Given the description of an element on the screen output the (x, y) to click on. 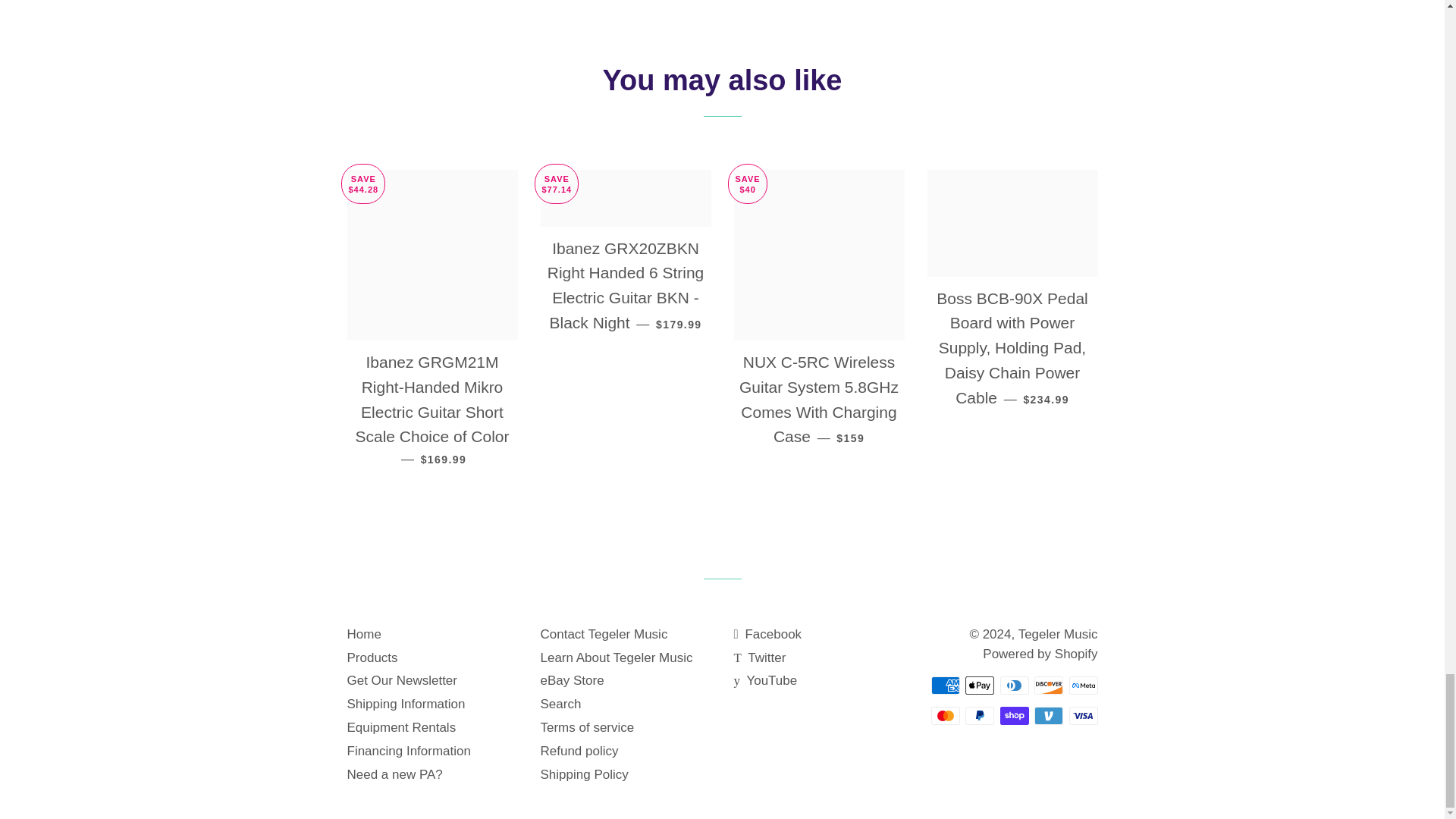
Shop Pay (1012, 715)
Tegeler Music on YouTube (765, 680)
PayPal (979, 715)
Apple Pay (979, 685)
Tegeler Music on Facebook (767, 634)
Venmo (1047, 715)
Discover (1047, 685)
Diners Club (1012, 685)
Tegeler Music on Twitter (759, 657)
Meta Pay (1082, 685)
